Given the description of an element on the screen output the (x, y) to click on. 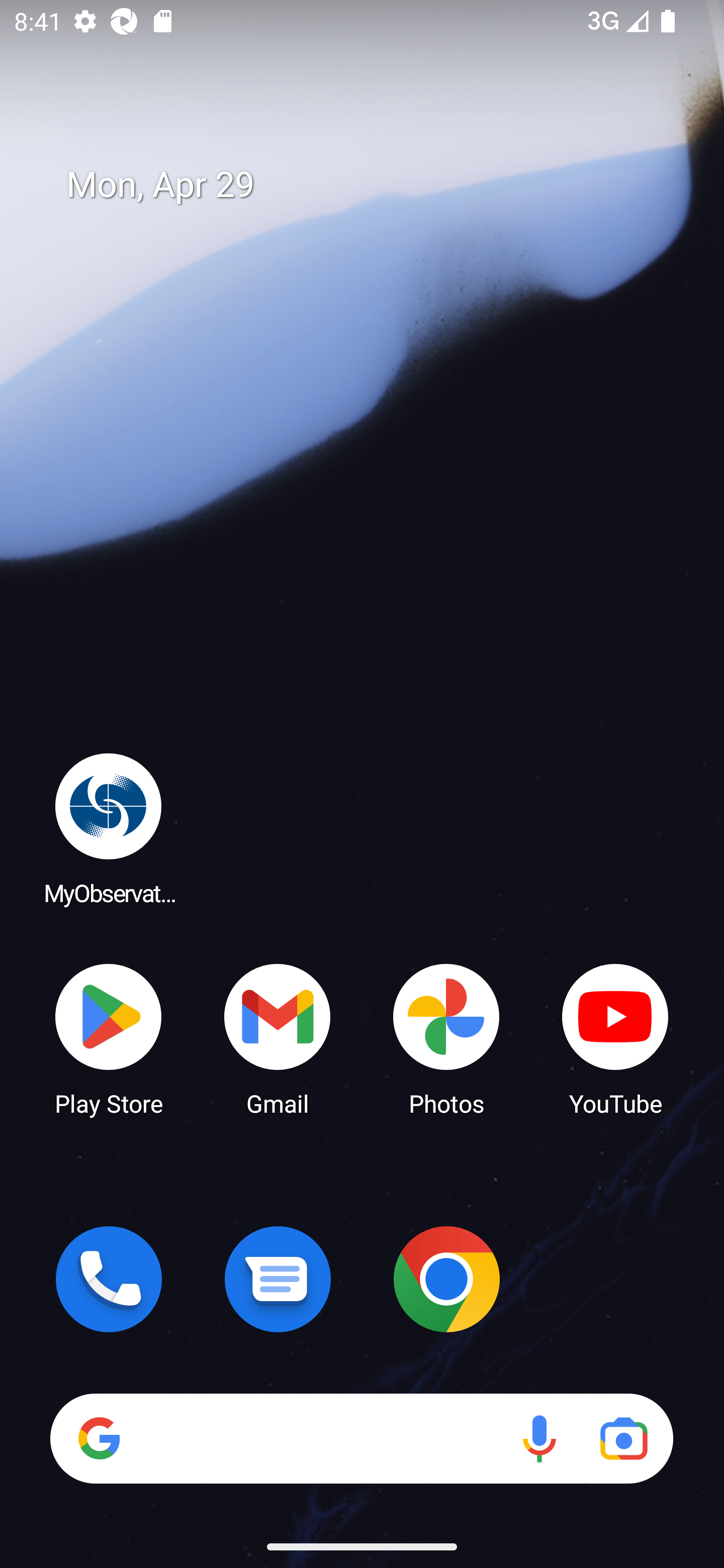
Mon, Apr 29 (375, 184)
MyObservatory (108, 828)
Play Store (108, 1038)
Gmail (277, 1038)
Photos (445, 1038)
YouTube (615, 1038)
Phone (108, 1279)
Messages (277, 1279)
Chrome (446, 1279)
Voice search (539, 1438)
Google Lens (623, 1438)
